Given the description of an element on the screen output the (x, y) to click on. 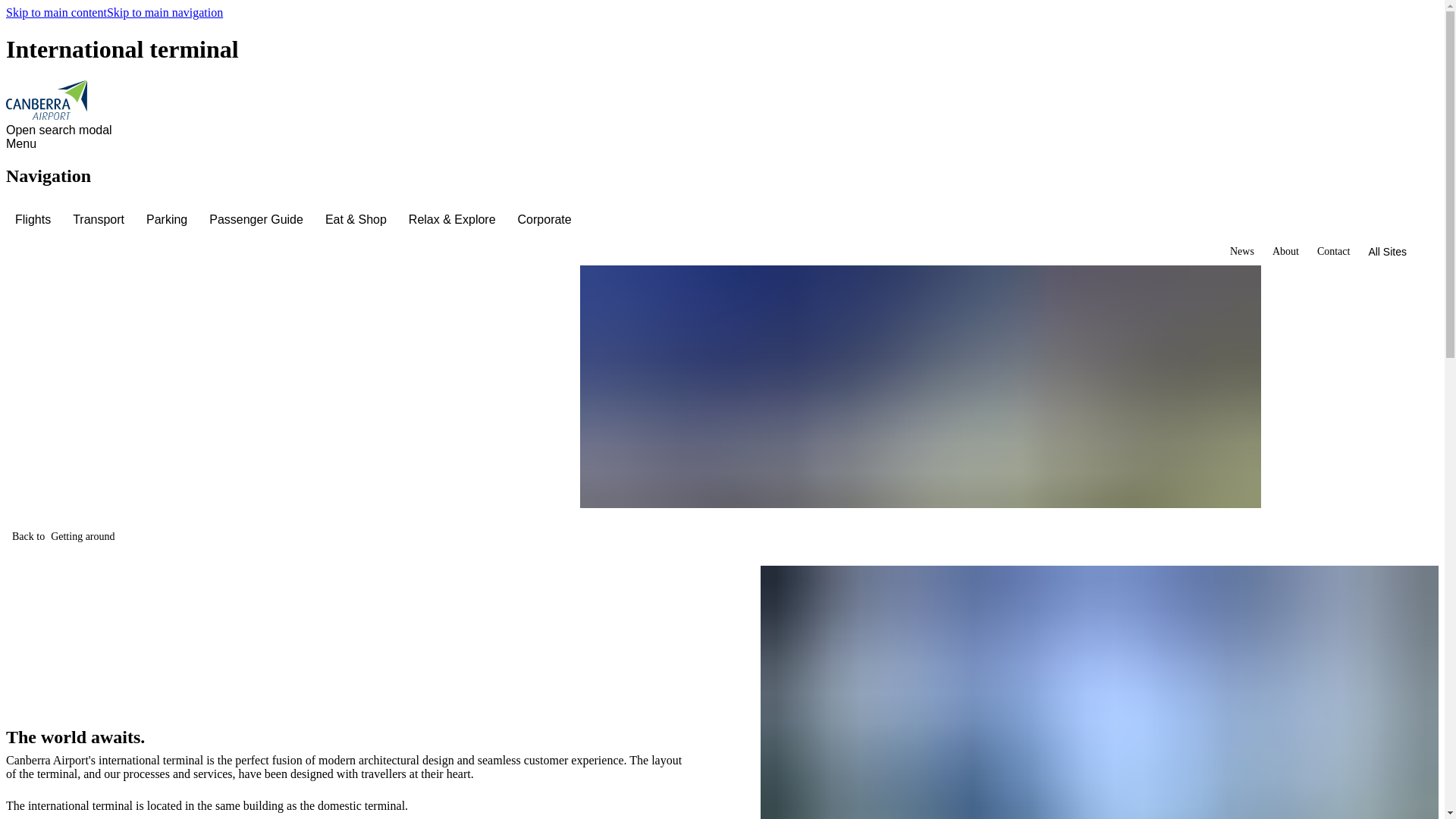
Parking (168, 219)
Transport (100, 219)
Passenger Guide (258, 219)
Flights (34, 219)
Skip to main navigation (164, 11)
Menu (23, 143)
Open search modal (61, 130)
Skip to main content (55, 11)
